Given the description of an element on the screen output the (x, y) to click on. 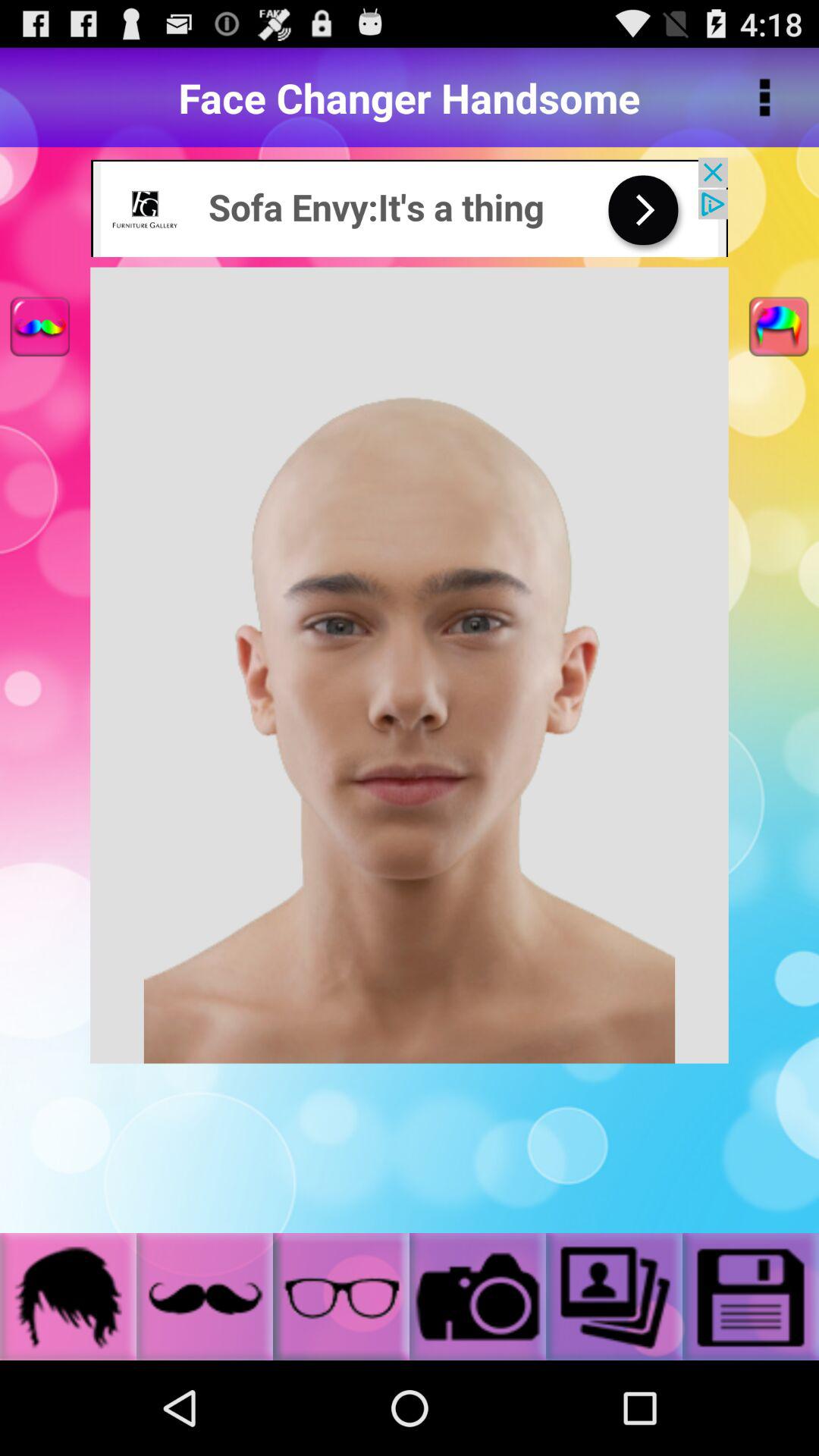
select the camera (477, 1296)
